Given the description of an element on the screen output the (x, y) to click on. 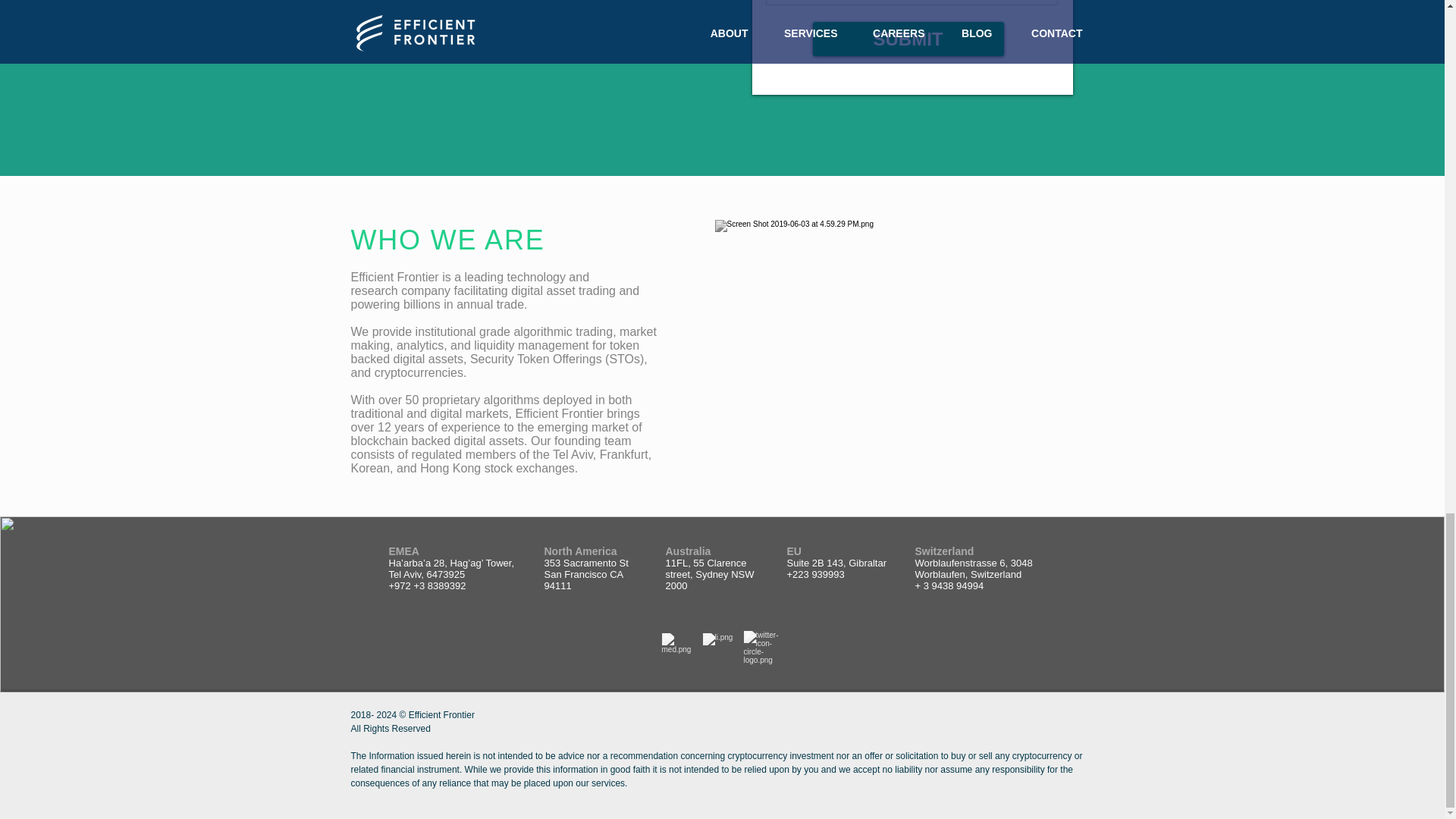
2018- 2024 (374, 715)
SUBMIT (412, 721)
